Given the description of an element on the screen output the (x, y) to click on. 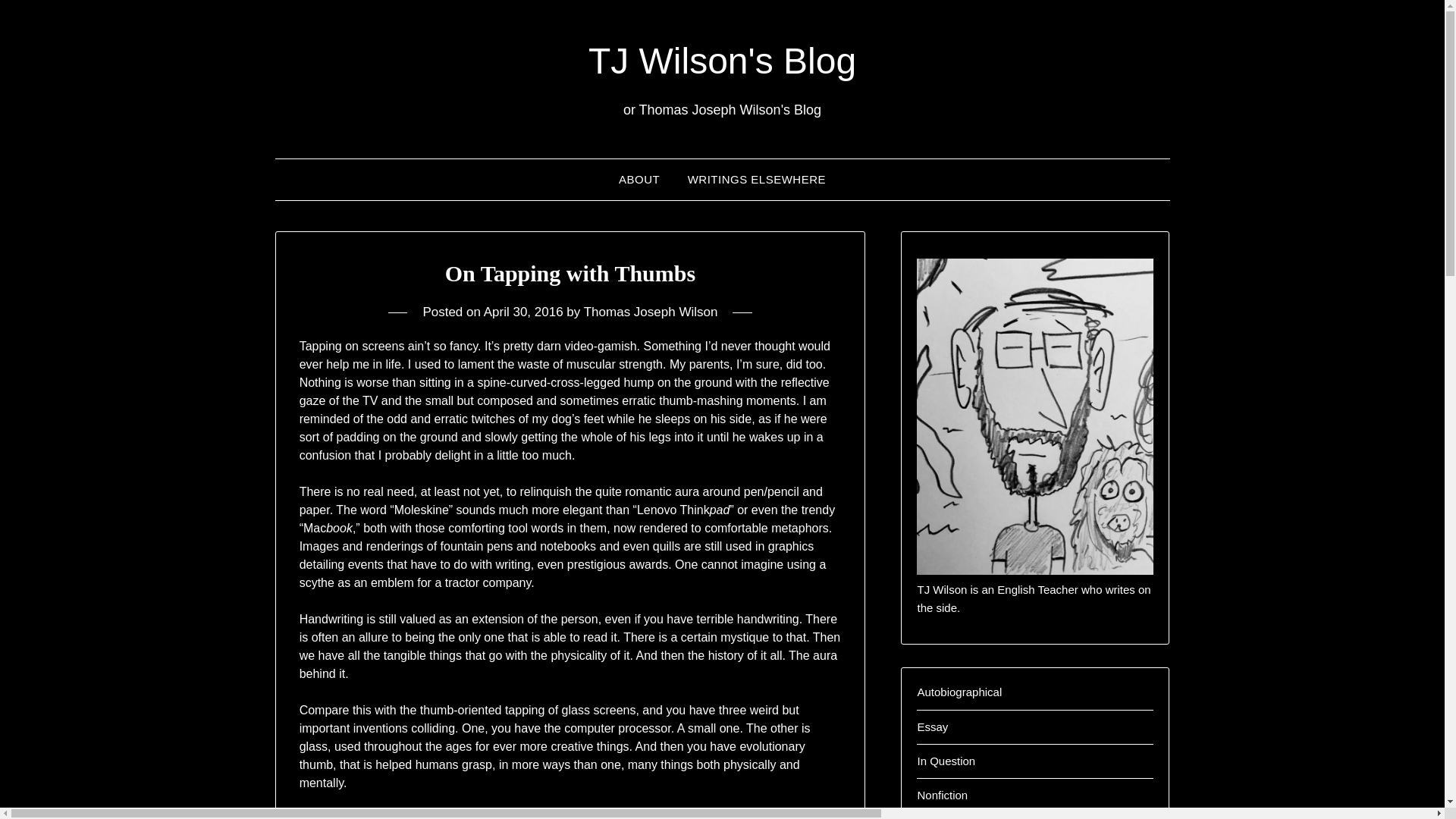
ABOUT (639, 178)
Thomas Joseph Wilson (650, 311)
In Question (946, 760)
WRITINGS ELSEWHERE (756, 178)
Autobiographical (959, 691)
April 30, 2016 (523, 311)
Essay (932, 726)
TJ Wilson's Blog (722, 60)
Nonfiction (942, 794)
